Given the description of an element on the screen output the (x, y) to click on. 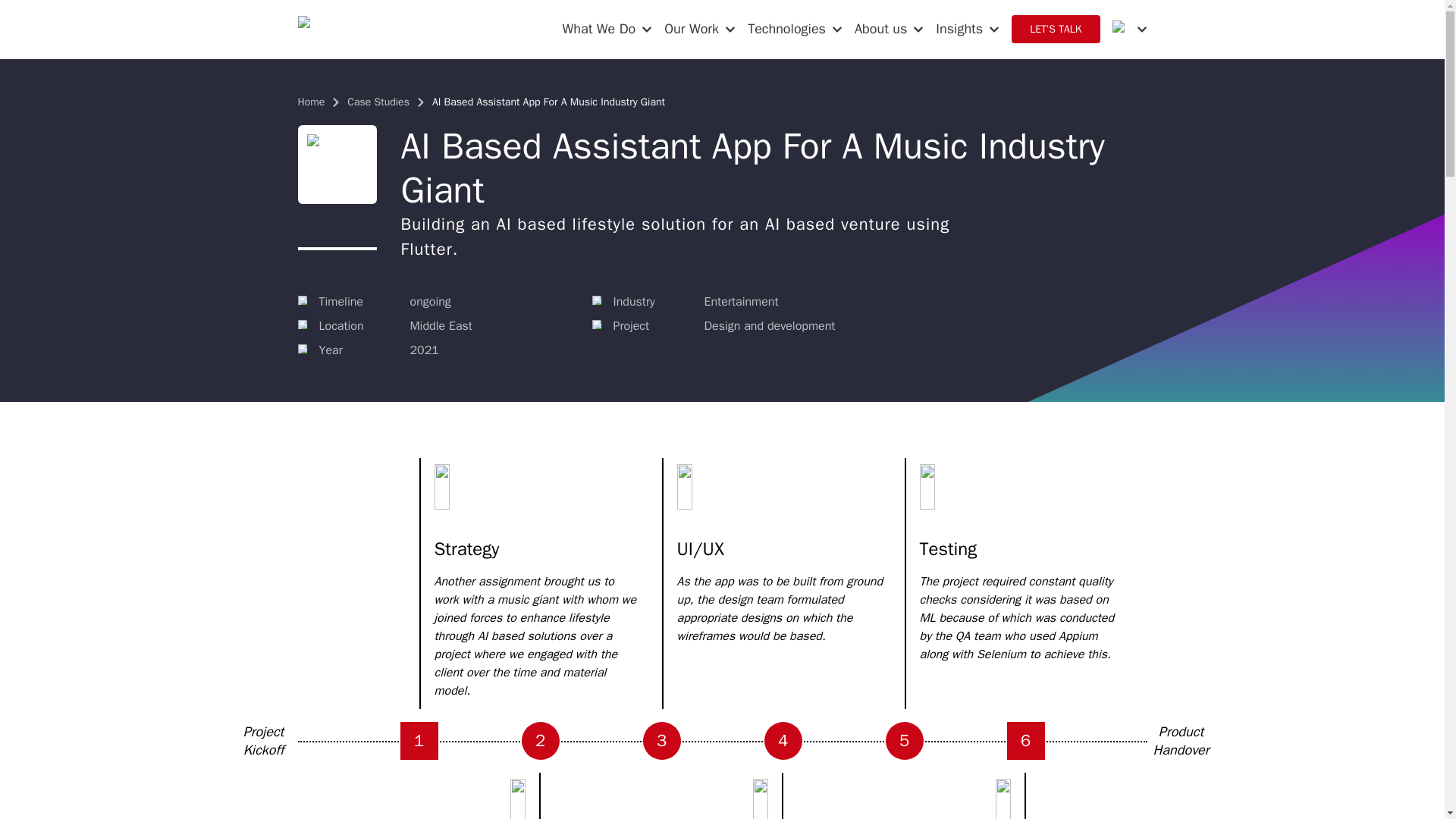
Case Studies (378, 101)
About us (888, 28)
What We Do (607, 28)
Home (310, 101)
Technologies (795, 28)
AI Based Assistant App For A Music Industry Giant (548, 101)
Our Work (699, 28)
Insights (967, 28)
